Given the description of an element on the screen output the (x, y) to click on. 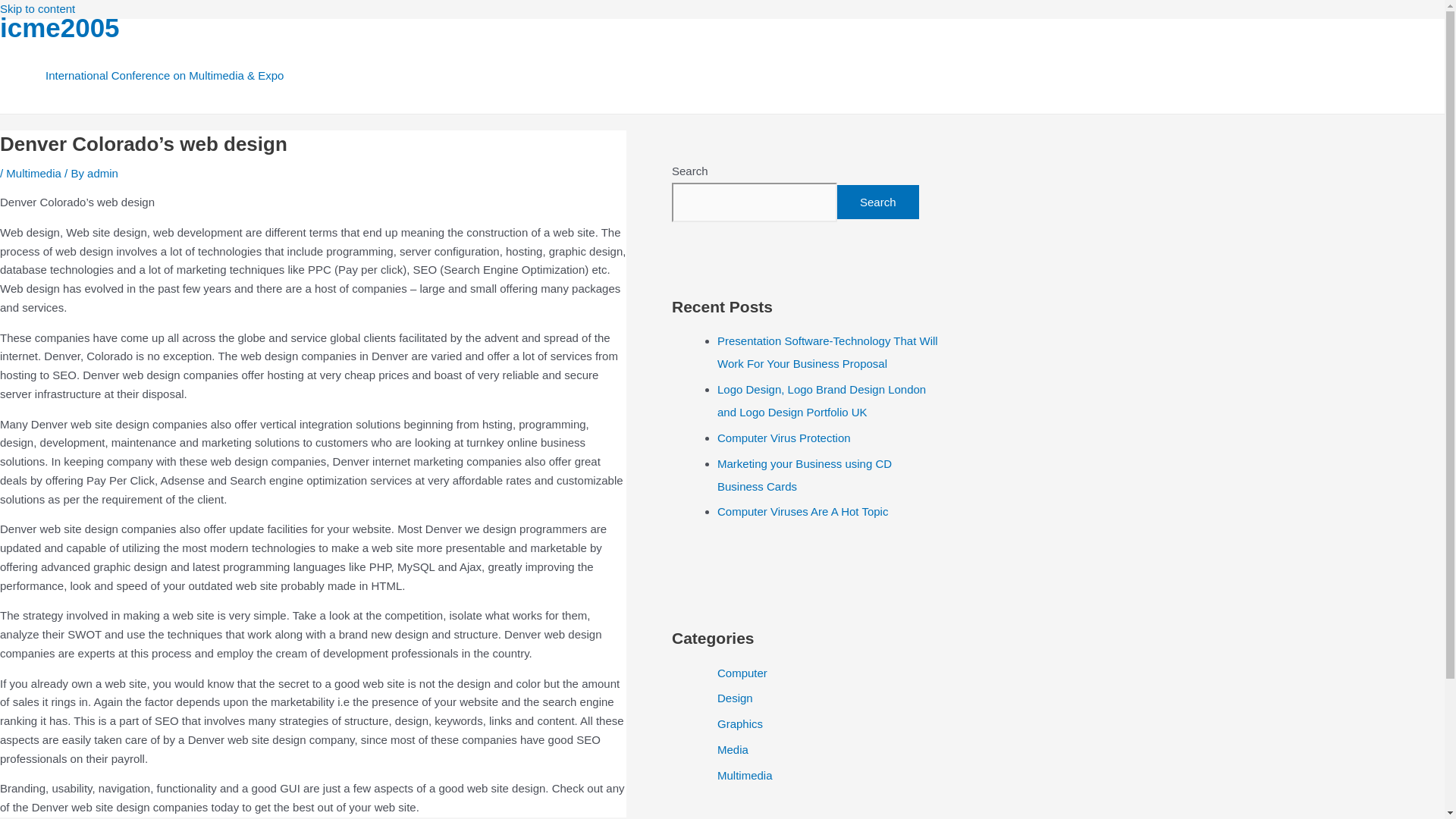
Computer Viruses Are A Hot Topic (802, 511)
Marketing your Business using CD Business Cards (804, 475)
Computer (742, 672)
Search (877, 202)
Multimedia (33, 173)
Skip to content (37, 8)
Multimedia (745, 775)
Skip to content (37, 8)
Design (734, 697)
